Given the description of an element on the screen output the (x, y) to click on. 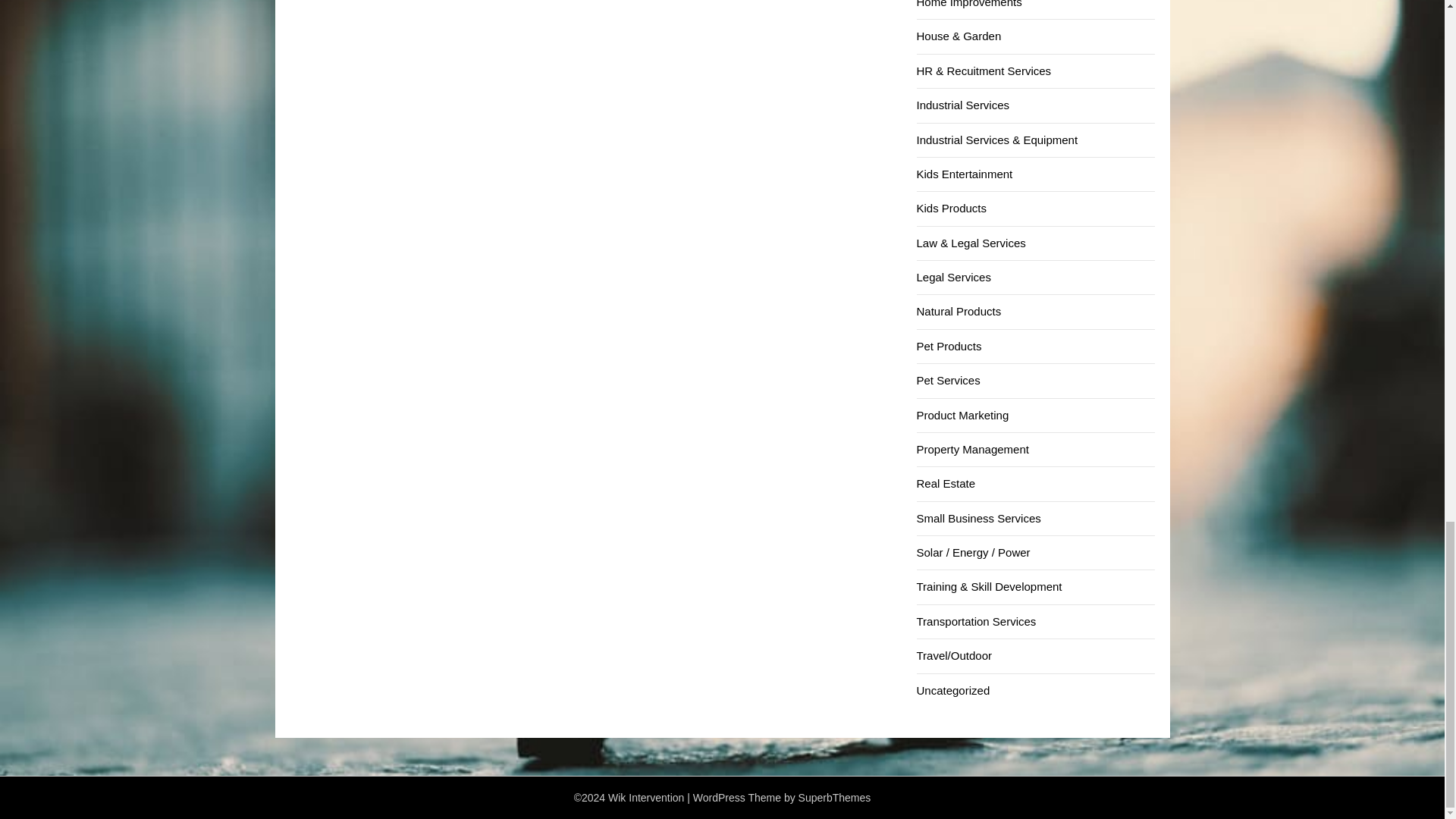
Kids Entertainment (963, 173)
Kids Products (951, 207)
Home Improvements (968, 4)
Legal Services (952, 277)
Industrial Services (962, 104)
